Given the description of an element on the screen output the (x, y) to click on. 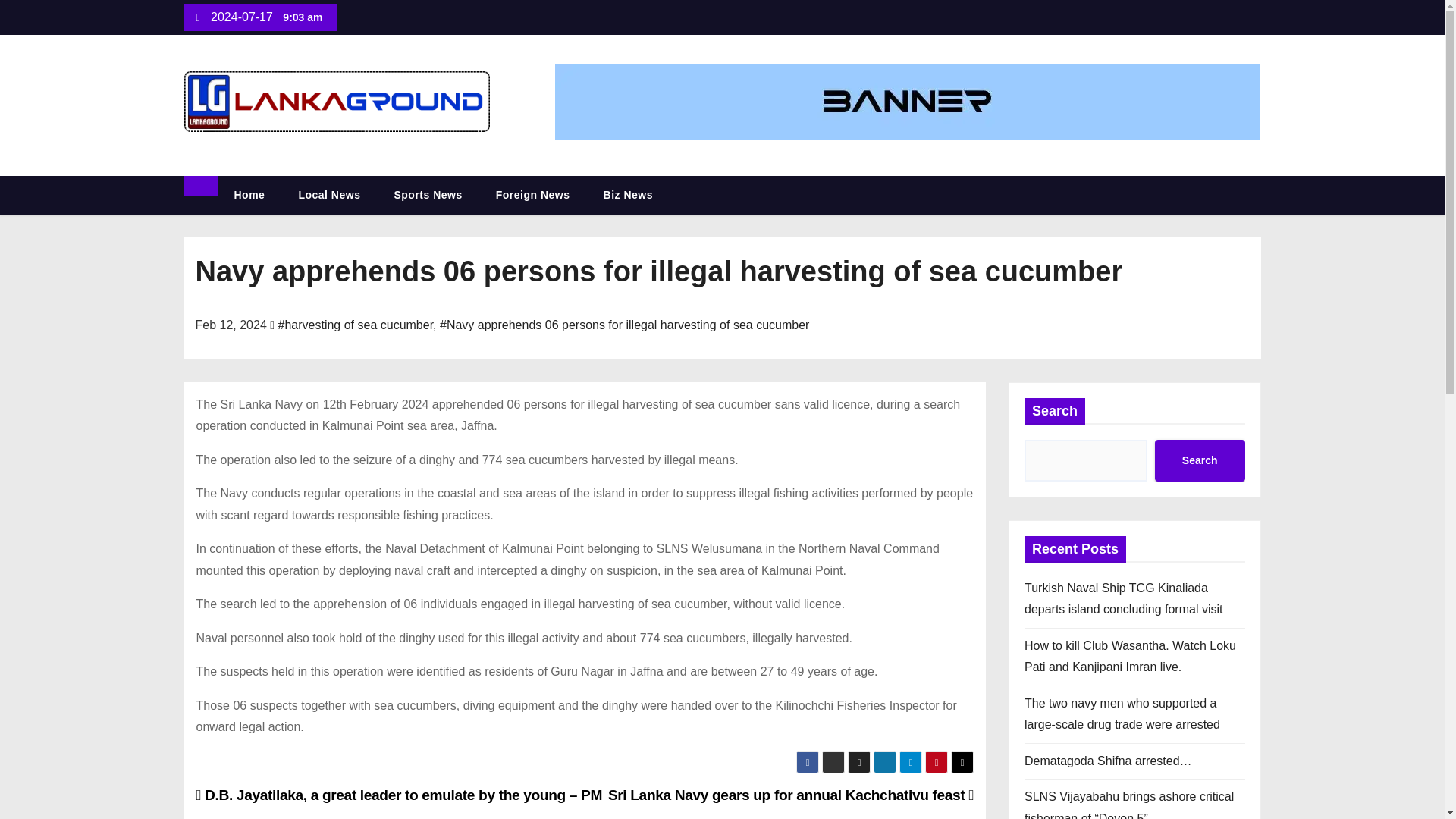
Local News (329, 195)
Foreign News (532, 195)
Biz News (627, 195)
Home (248, 195)
Local News (329, 195)
Biz News (627, 195)
Sports News (428, 195)
Sports News (428, 195)
Sri Lanka Navy gears up for annual Kachchativu feast (791, 795)
Home (199, 185)
Home (248, 195)
Foreign News (532, 195)
